Given the description of an element on the screen output the (x, y) to click on. 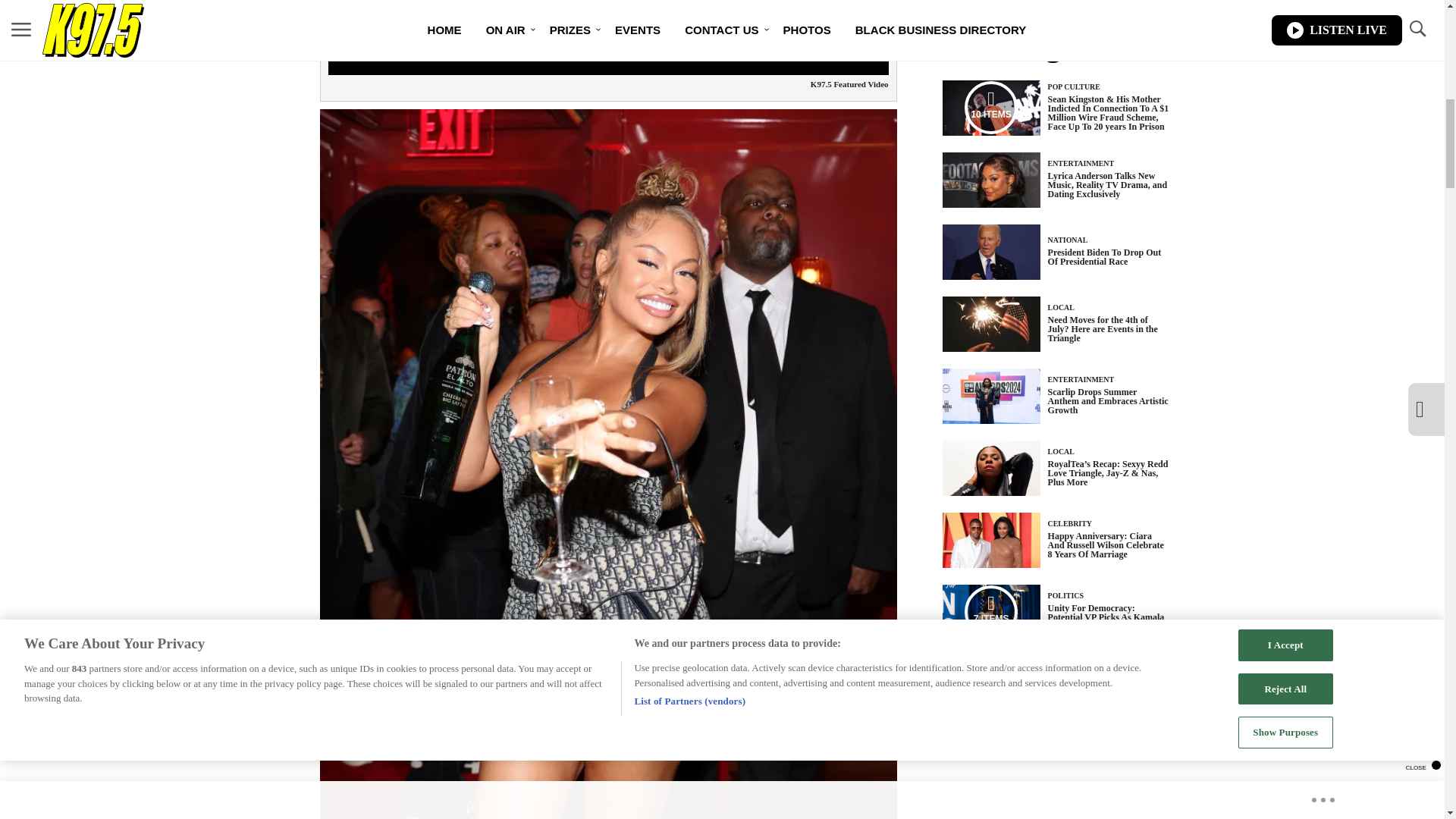
Media Playlist (990, 611)
Media Playlist (990, 107)
